Given the description of an element on the screen output the (x, y) to click on. 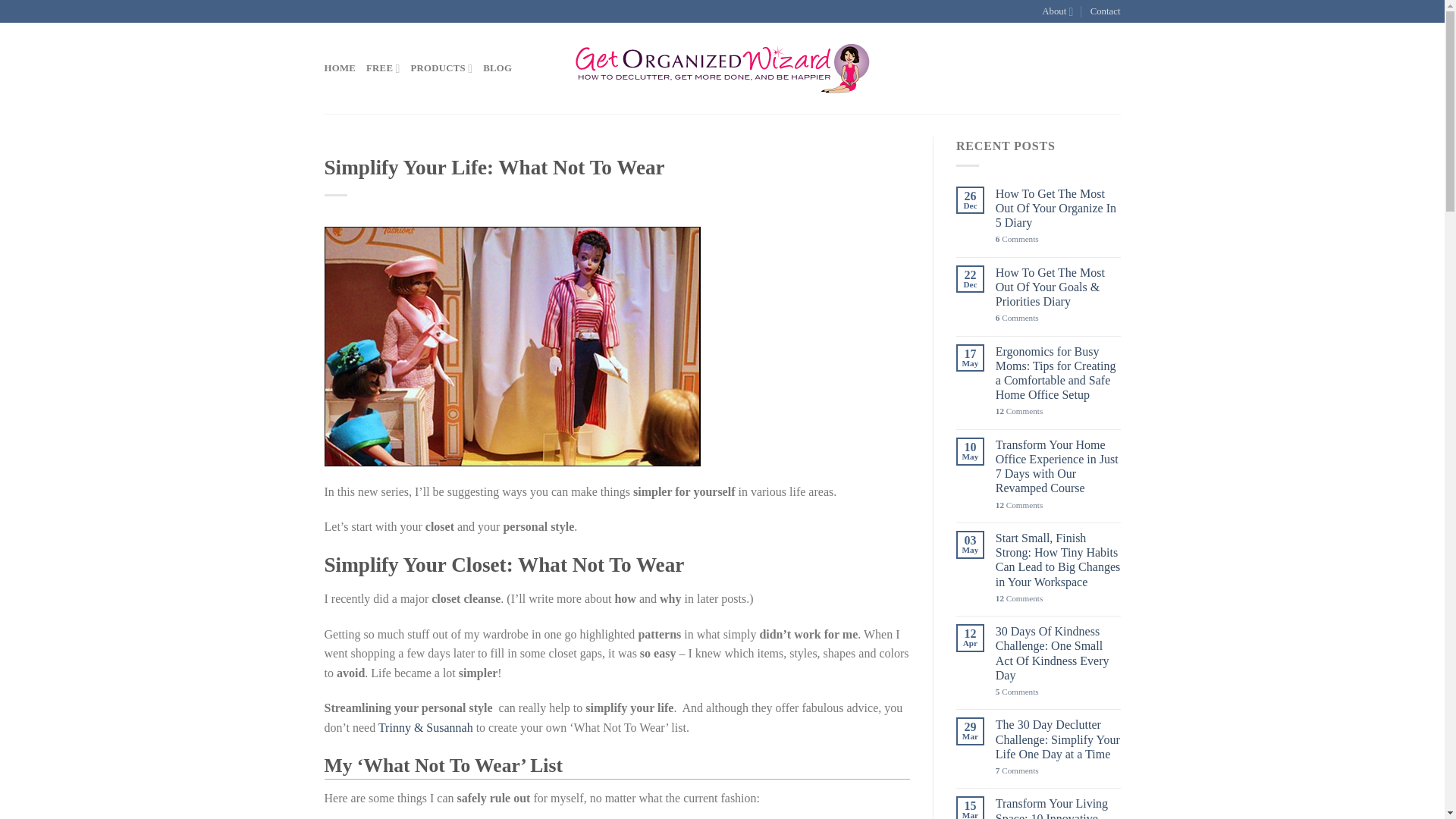
FREE (382, 68)
HOME (340, 68)
PRODUCTS (441, 68)
Contact (1105, 11)
About (1057, 11)
Simplify Your Life: What Not To Wear (512, 346)
How To Get The Most Out Of Your Organize In 5 Diary (1058, 208)
